Given the description of an element on the screen output the (x, y) to click on. 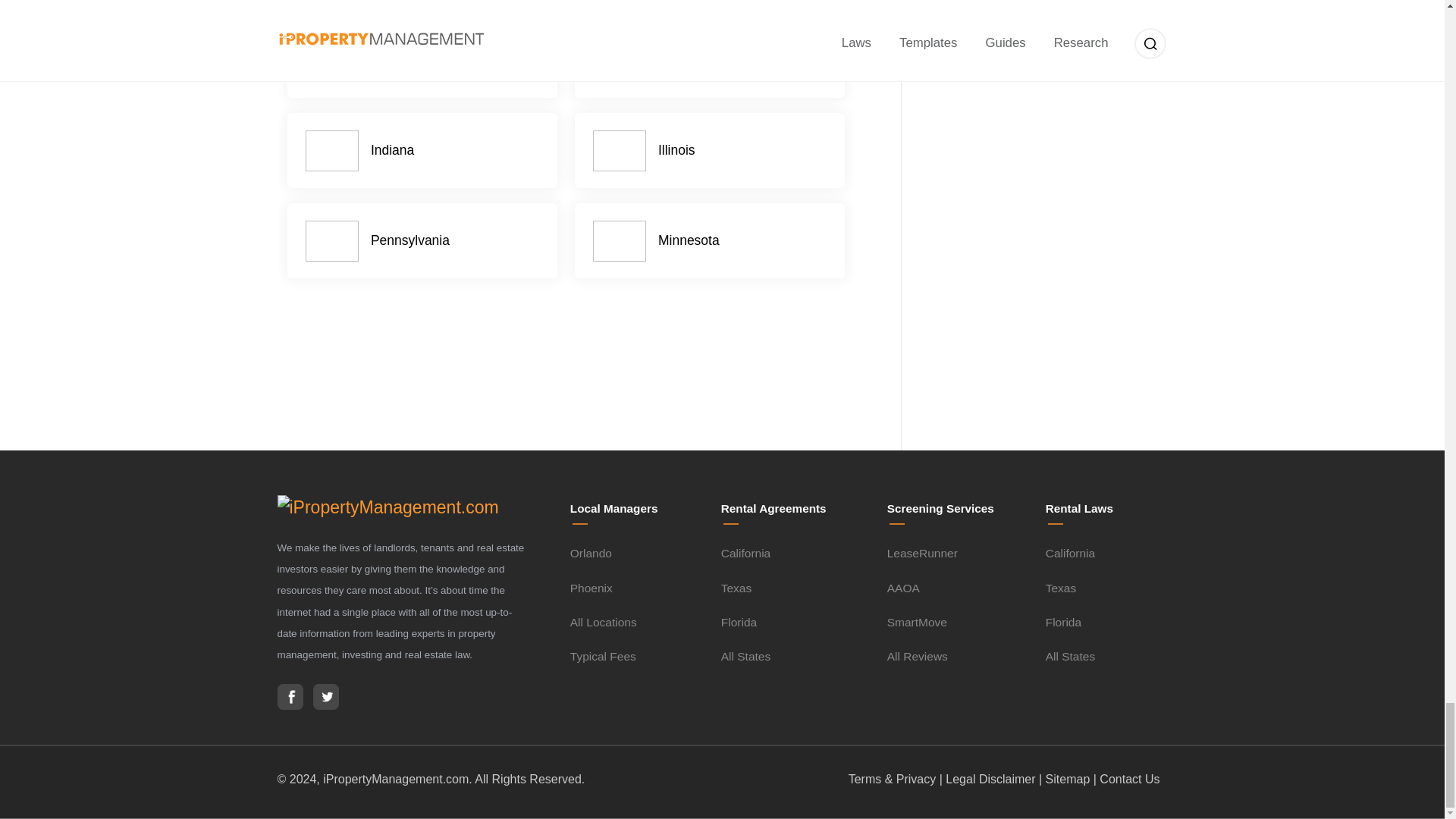
Indiana (422, 150)
We are on Twitter (325, 696)
Minnesota (709, 240)
Illinois (709, 150)
Michigan (422, 60)
Pennsylvania (422, 240)
Ohio (709, 60)
We are on Facebook (290, 696)
